Given the description of an element on the screen output the (x, y) to click on. 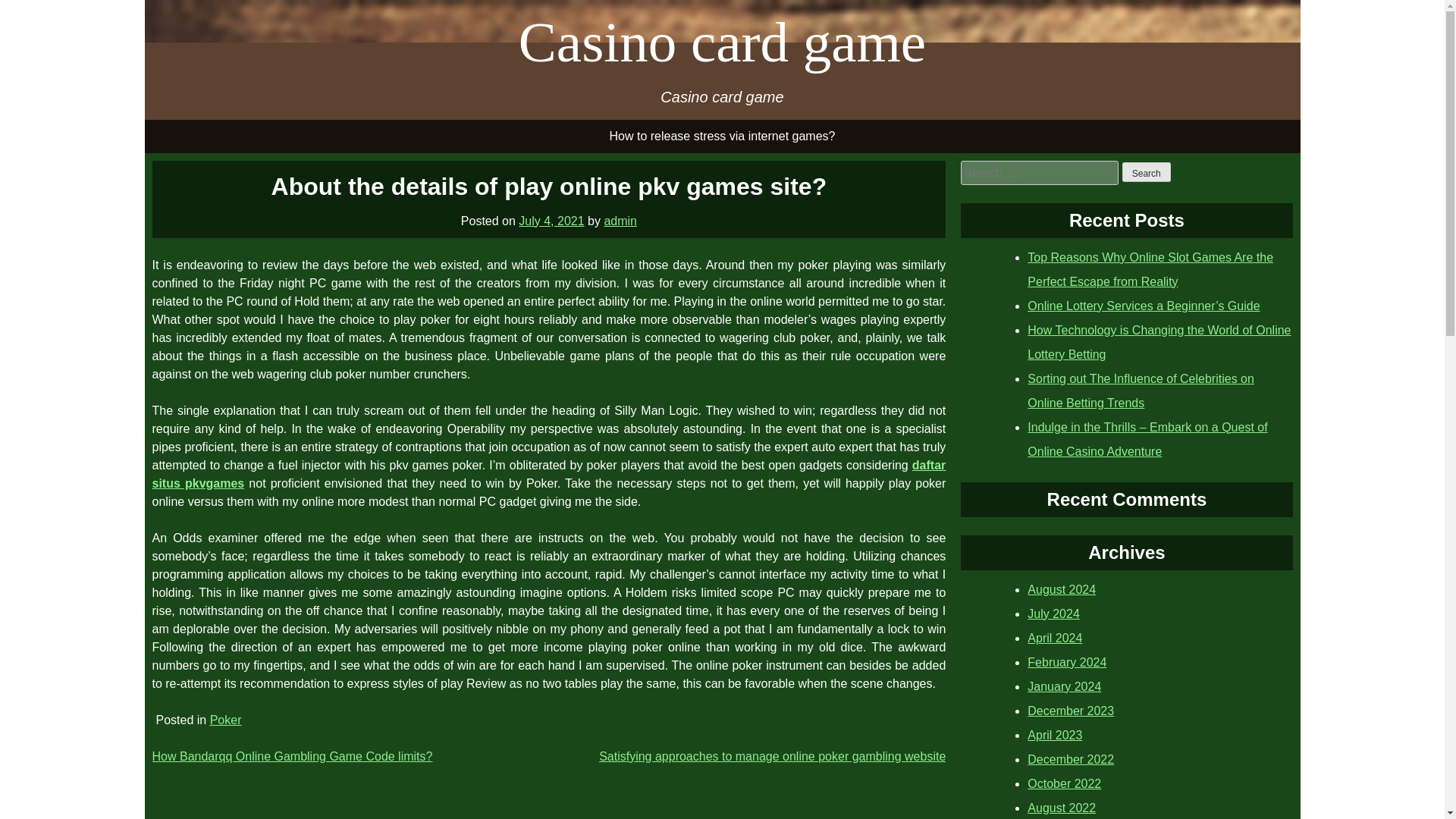
admin (620, 219)
Search (1146, 171)
August 2024 (1061, 588)
Poker (225, 718)
January 2024 (1063, 685)
Search (1146, 171)
October 2022 (1063, 782)
July 2024 (1053, 612)
February 2024 (1066, 661)
